Given the description of an element on the screen output the (x, y) to click on. 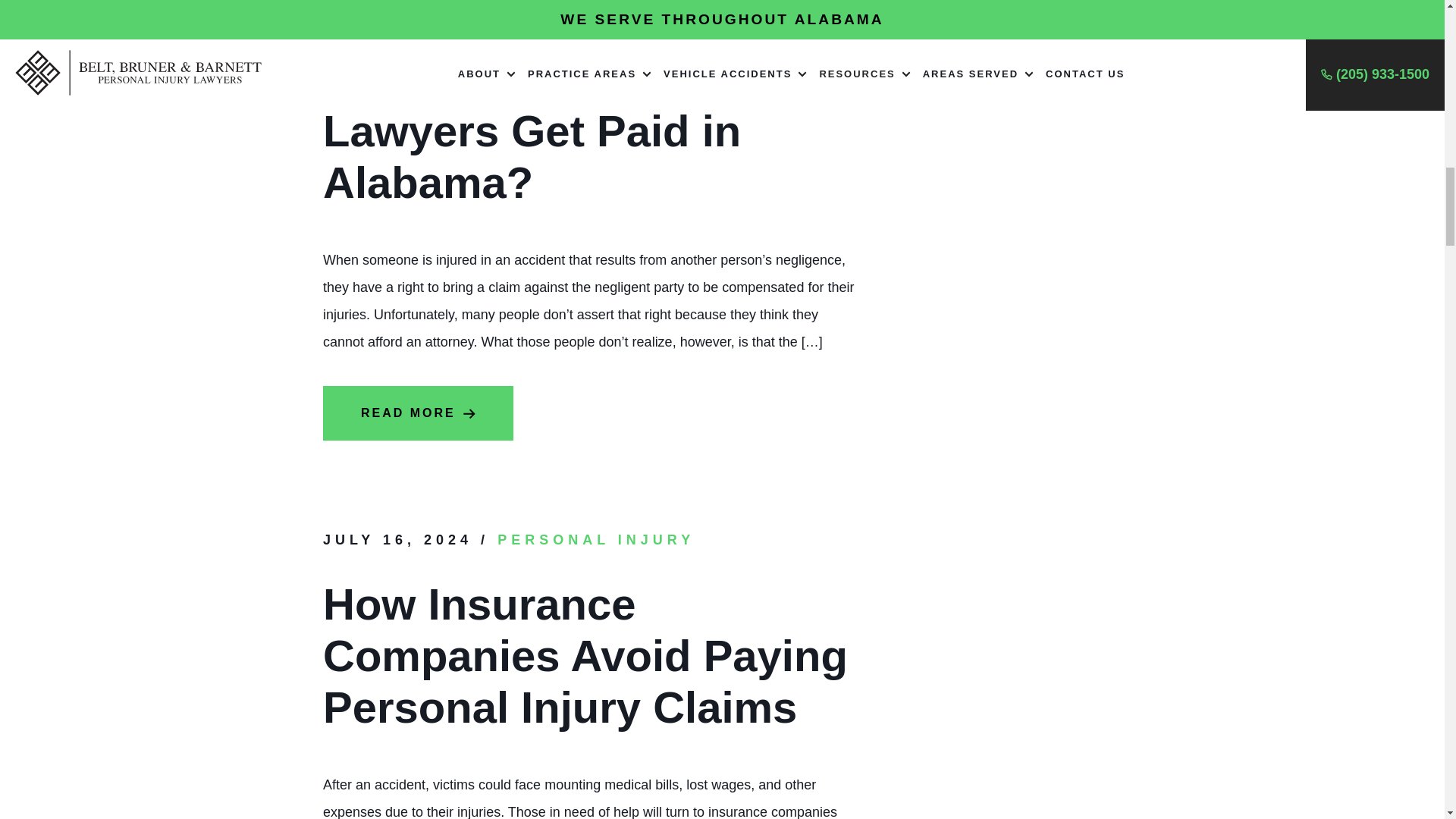
PERSONAL INJURY (595, 539)
PERSONAL INJURY (595, 14)
READ MORE (418, 412)
